Given the description of an element on the screen output the (x, y) to click on. 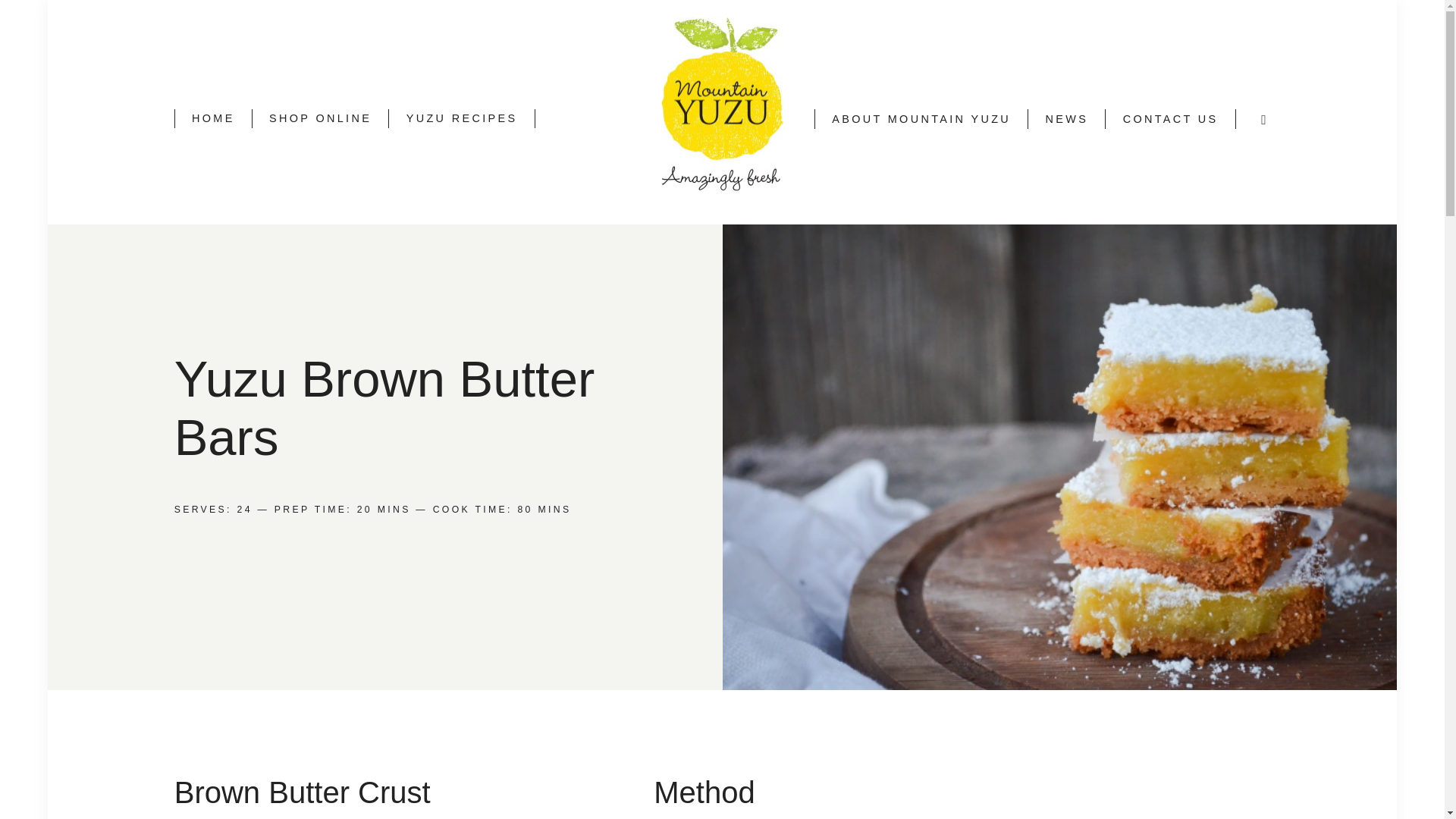
YUZU RECIPES (461, 118)
HOME (212, 118)
SHOP ONLINE (319, 118)
NEWS (1066, 118)
Mountain Yuzu (767, 36)
ABOUT MOUNTAIN YUZU (920, 118)
CONTACT US (1170, 118)
